Given the description of an element on the screen output the (x, y) to click on. 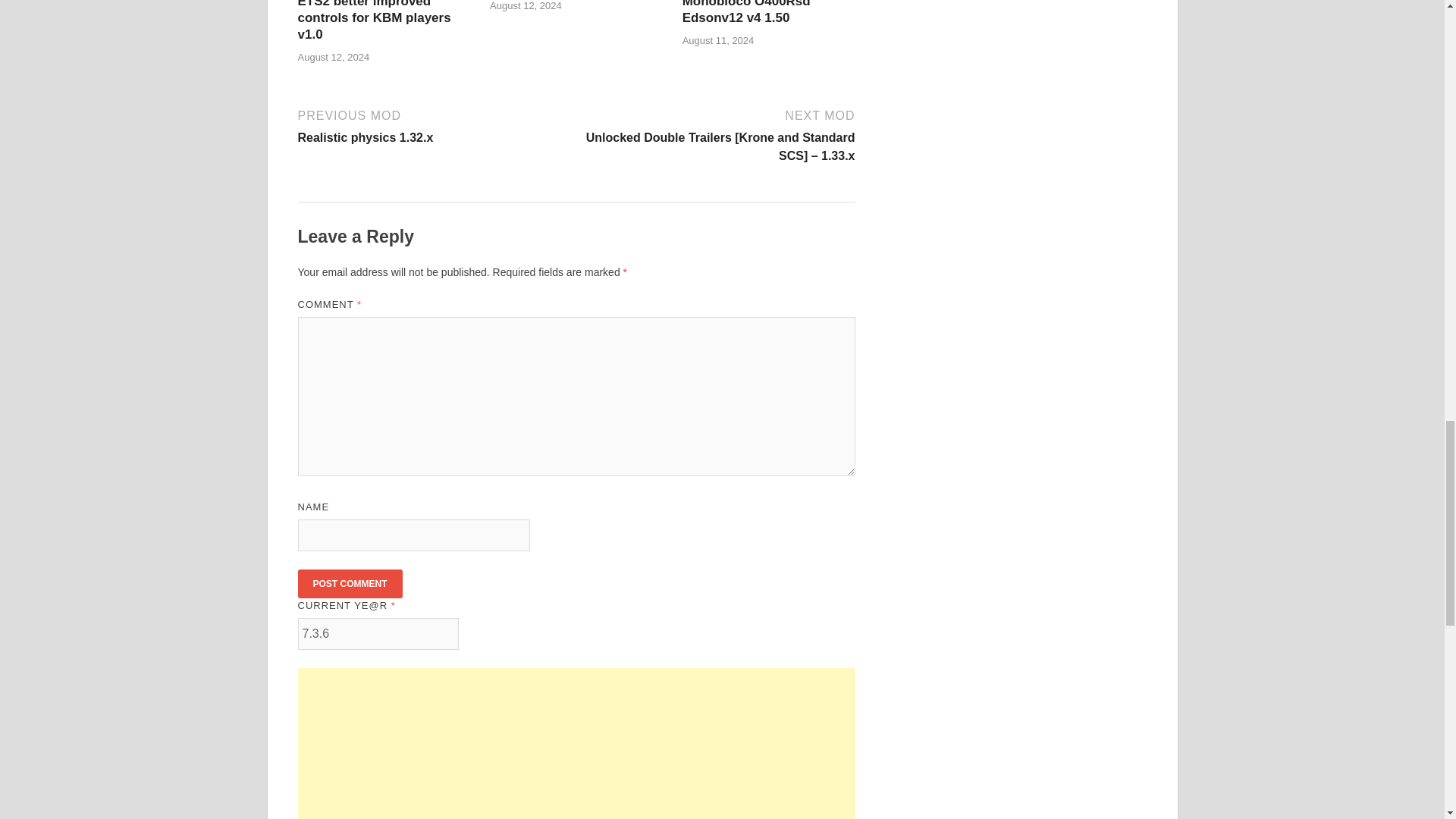
Monobloco O400Rsd Edsonv12 v4 1.50 (746, 12)
ETS2 better improved controls for KBM players v1.0 (373, 20)
ETS2 better improved controls for KBM players v1.0 (434, 125)
Post Comment (373, 20)
7.3.6 (349, 583)
